Given the description of an element on the screen output the (x, y) to click on. 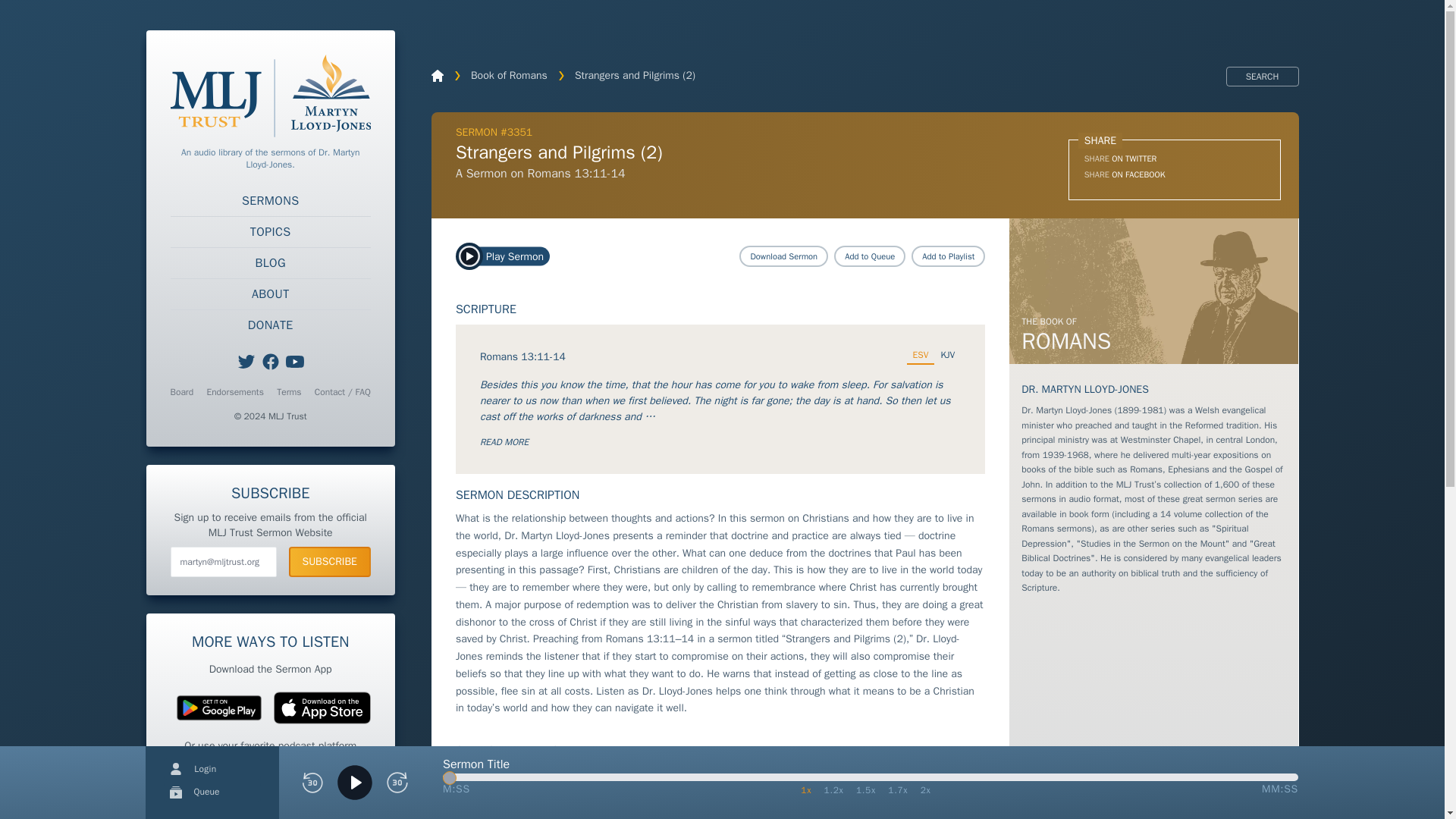
queue (176, 792)
MLJ Trust on YouTube (294, 361)
Sermons on Book of Romans by Dr. Martyn Lloyd-Jones (1153, 290)
TOPICS (269, 232)
MLJ Trust on Facebook (270, 361)
Endorsements (234, 391)
ABOUT (269, 294)
SERMONS (269, 200)
BLOG (269, 263)
